Given the description of an element on the screen output the (x, y) to click on. 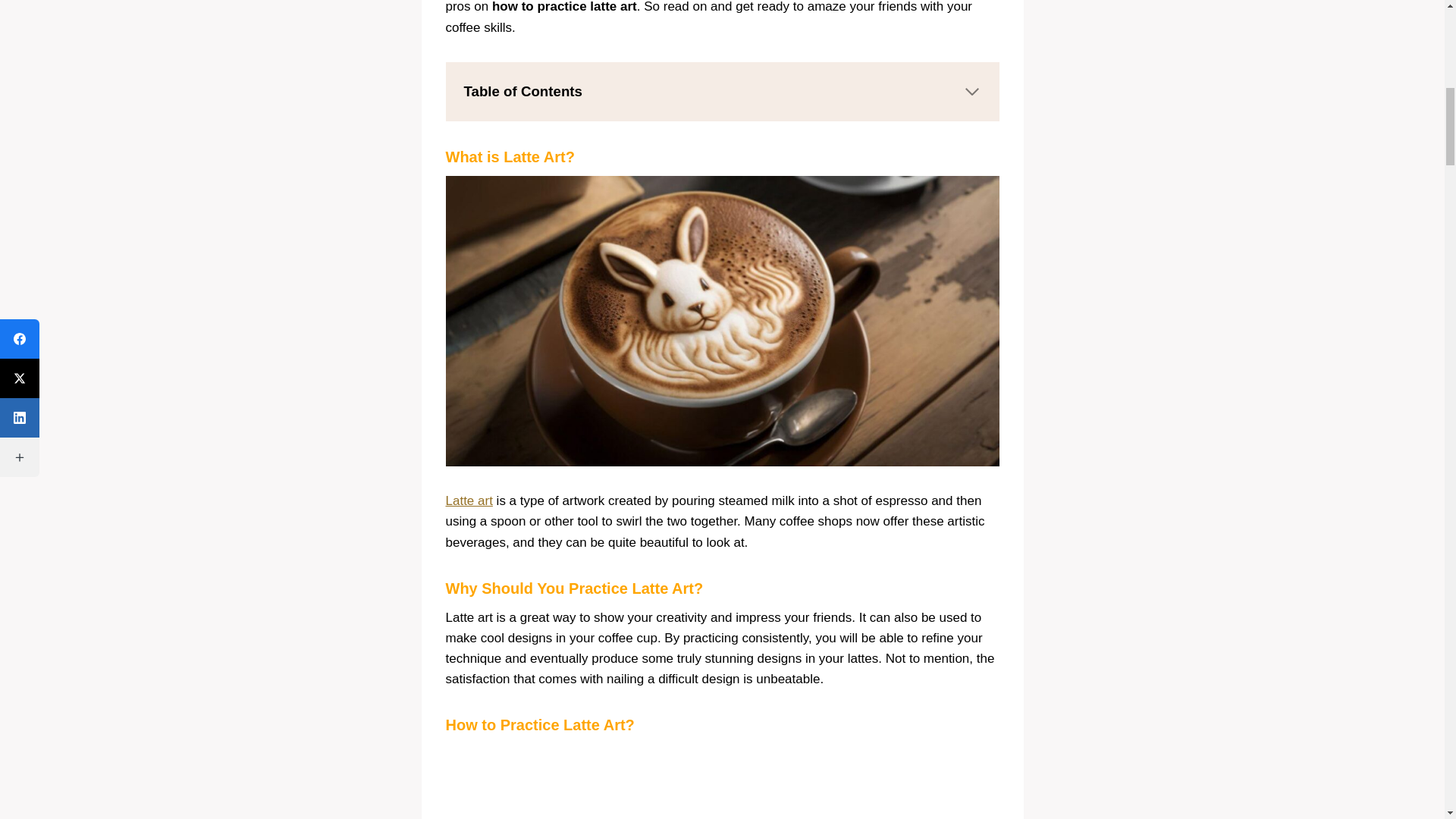
Latte art (469, 500)
Table of Contents (721, 91)
